Given the description of an element on the screen output the (x, y) to click on. 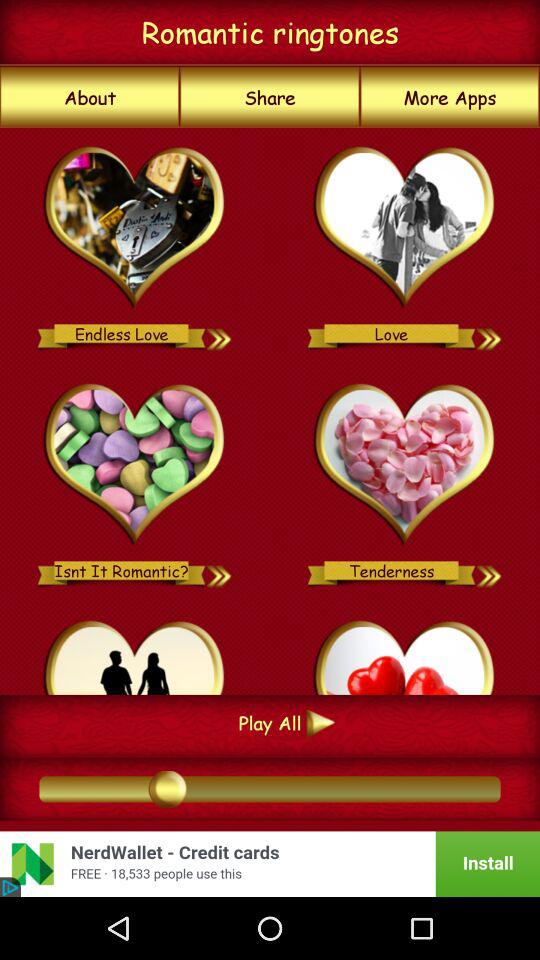
go to specific ringtones catalogue (404, 465)
